Given the description of an element on the screen output the (x, y) to click on. 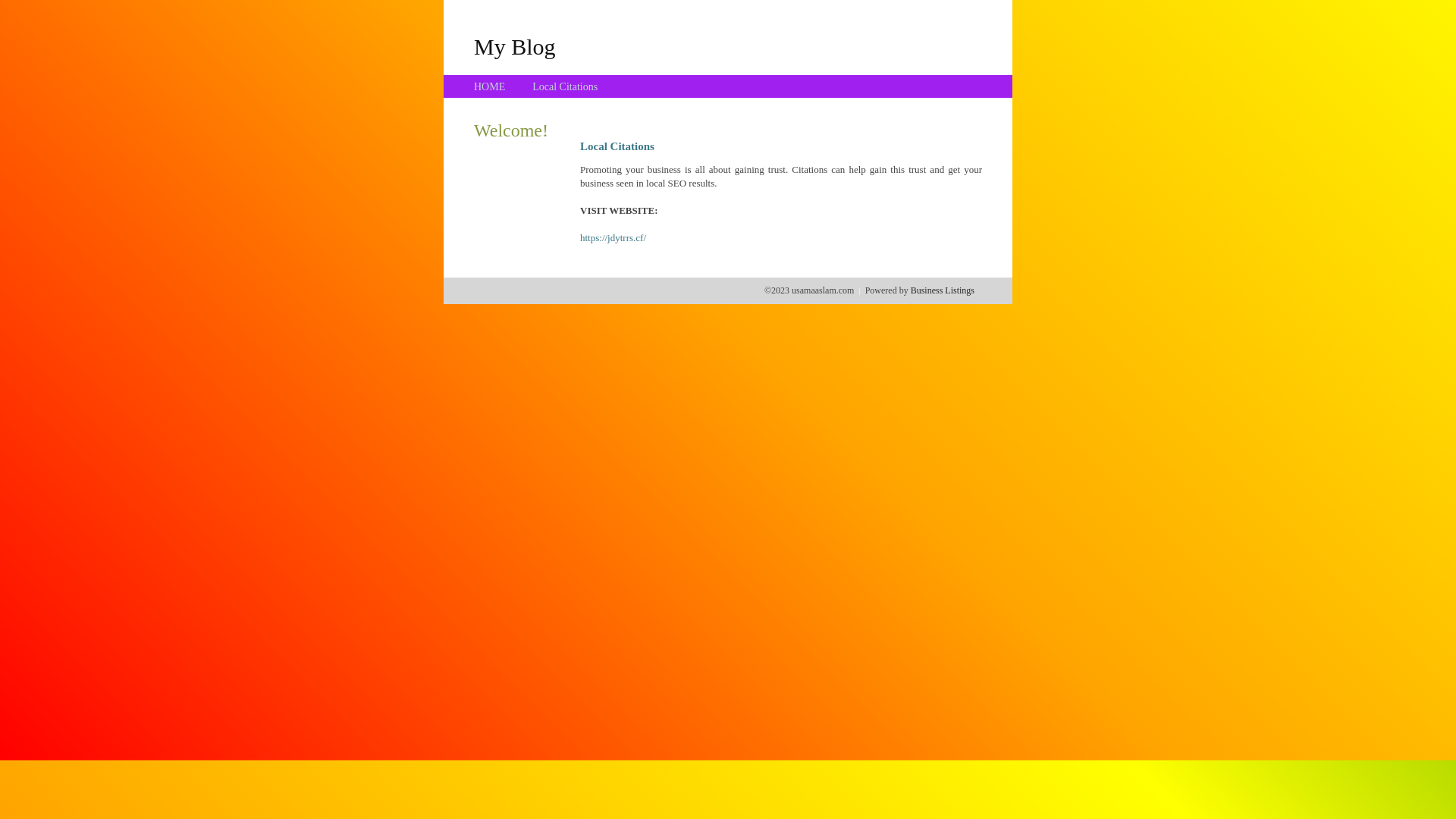
https://jdytrrs.cf/ Element type: text (613, 237)
Local Citations Element type: text (564, 86)
Business Listings Element type: text (942, 290)
HOME Element type: text (489, 86)
My Blog Element type: text (514, 46)
